Given the description of an element on the screen output the (x, y) to click on. 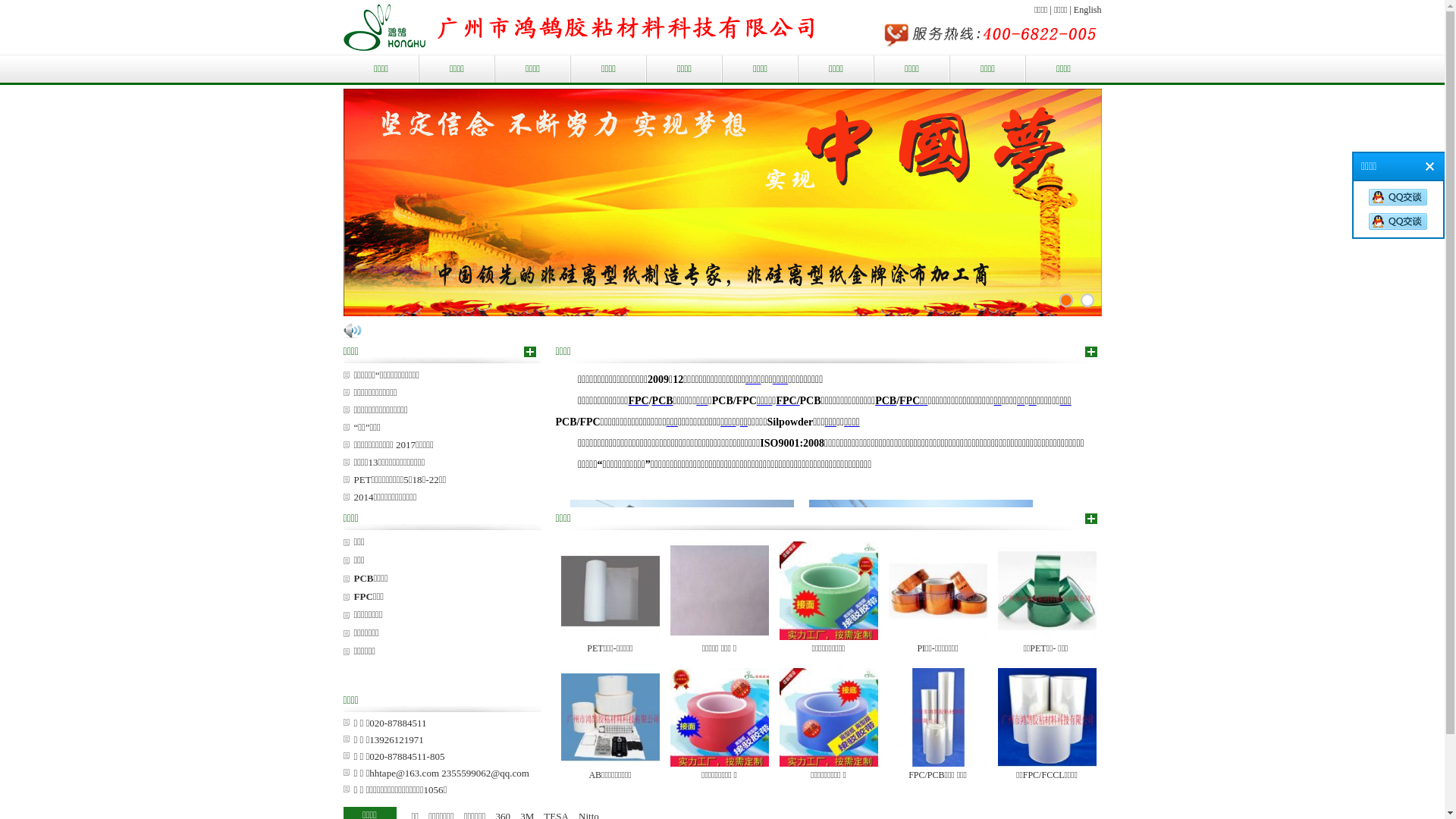
English Element type: text (1087, 9)
PCB Element type: text (662, 400)
02 Element type: hover (1065, 300)
FPC/ Element type: text (787, 400)
FPC Element type: text (637, 400)
PCB Element type: text (885, 400)
